Given the description of an element on the screen output the (x, y) to click on. 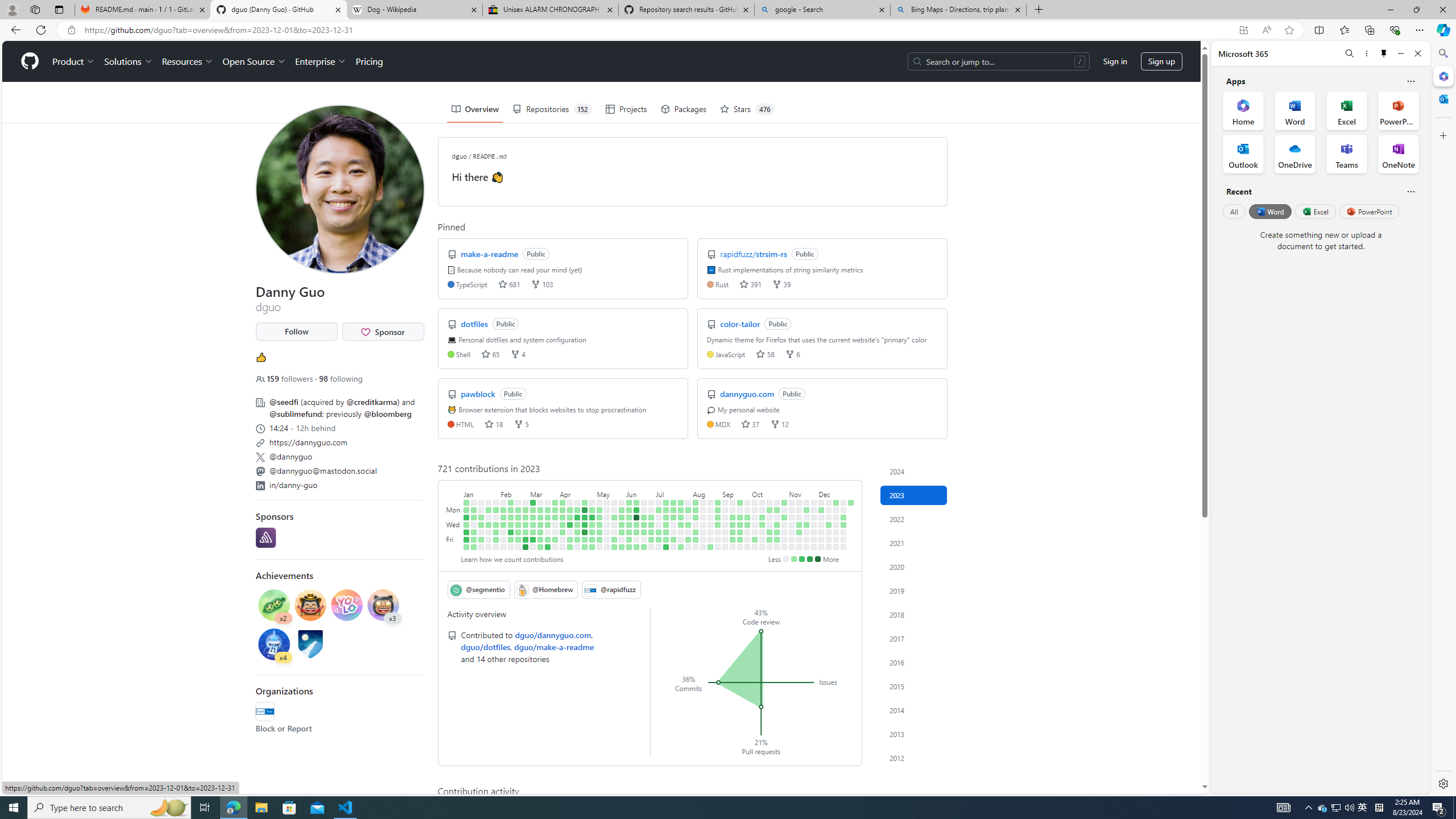
No contributions on December 16th. (828, 546)
1 contribution on October 11th. (761, 524)
14:24 - 12h behind (338, 426)
stars 391 (750, 283)
PowerPoint (1369, 210)
Sign up (1161, 61)
No contributions on September 16th. (732, 546)
No contributions on August 12th. (695, 546)
1 contribution on April 23rd. (585, 502)
No contributions on November 1st. (784, 524)
No contributions on January 28th. (489, 546)
April (577, 492)
No contributions on December 19th. (836, 517)
